Given the description of an element on the screen output the (x, y) to click on. 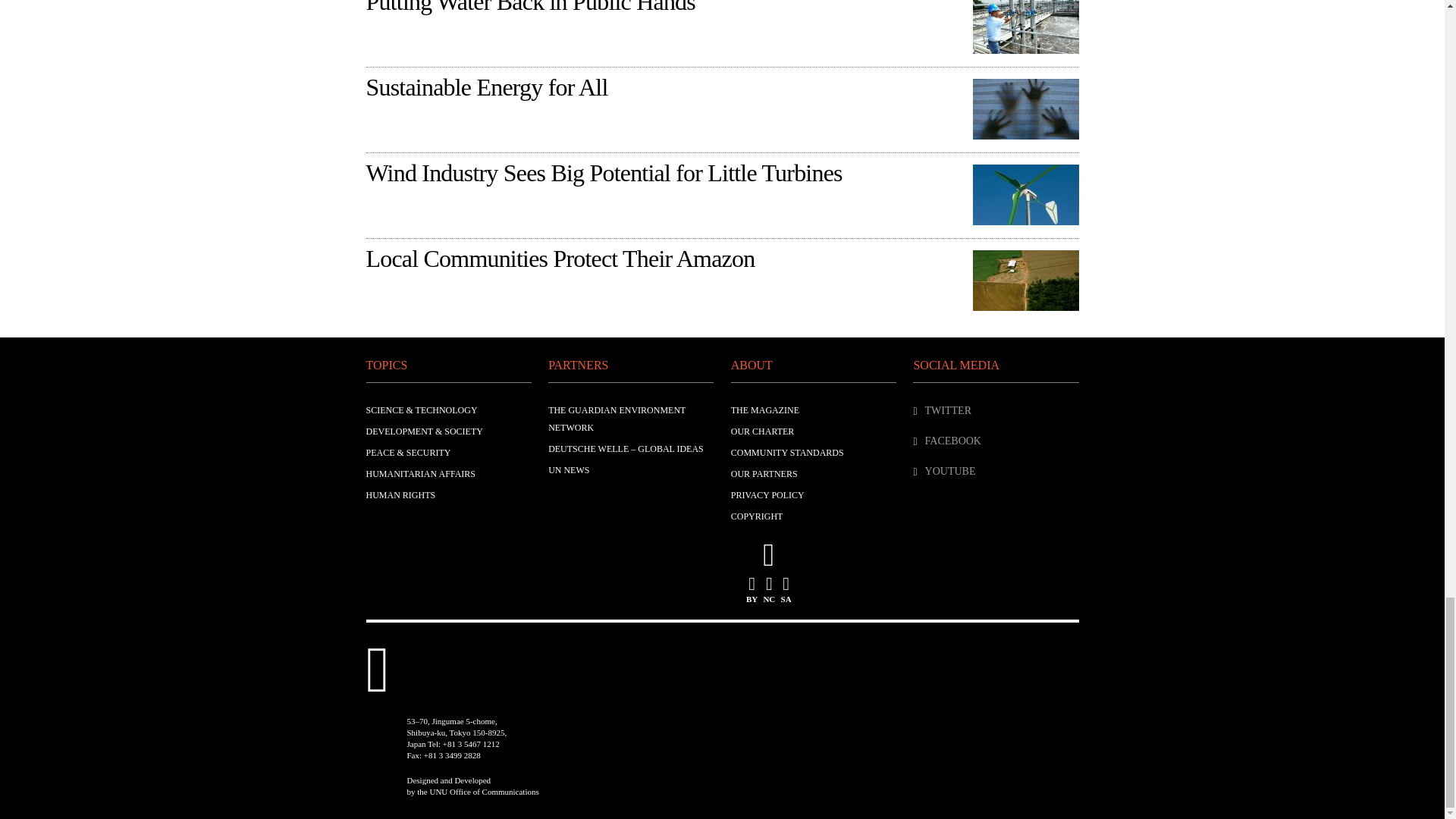
Local Communities Protect Their Amazon (1025, 283)
Sustainable Energy for All (1025, 111)
Putting Water Back in Public Hands (1025, 29)
Wind Industry Sees Big Potential for Little Turbines (1025, 197)
